Given the description of an element on the screen output the (x, y) to click on. 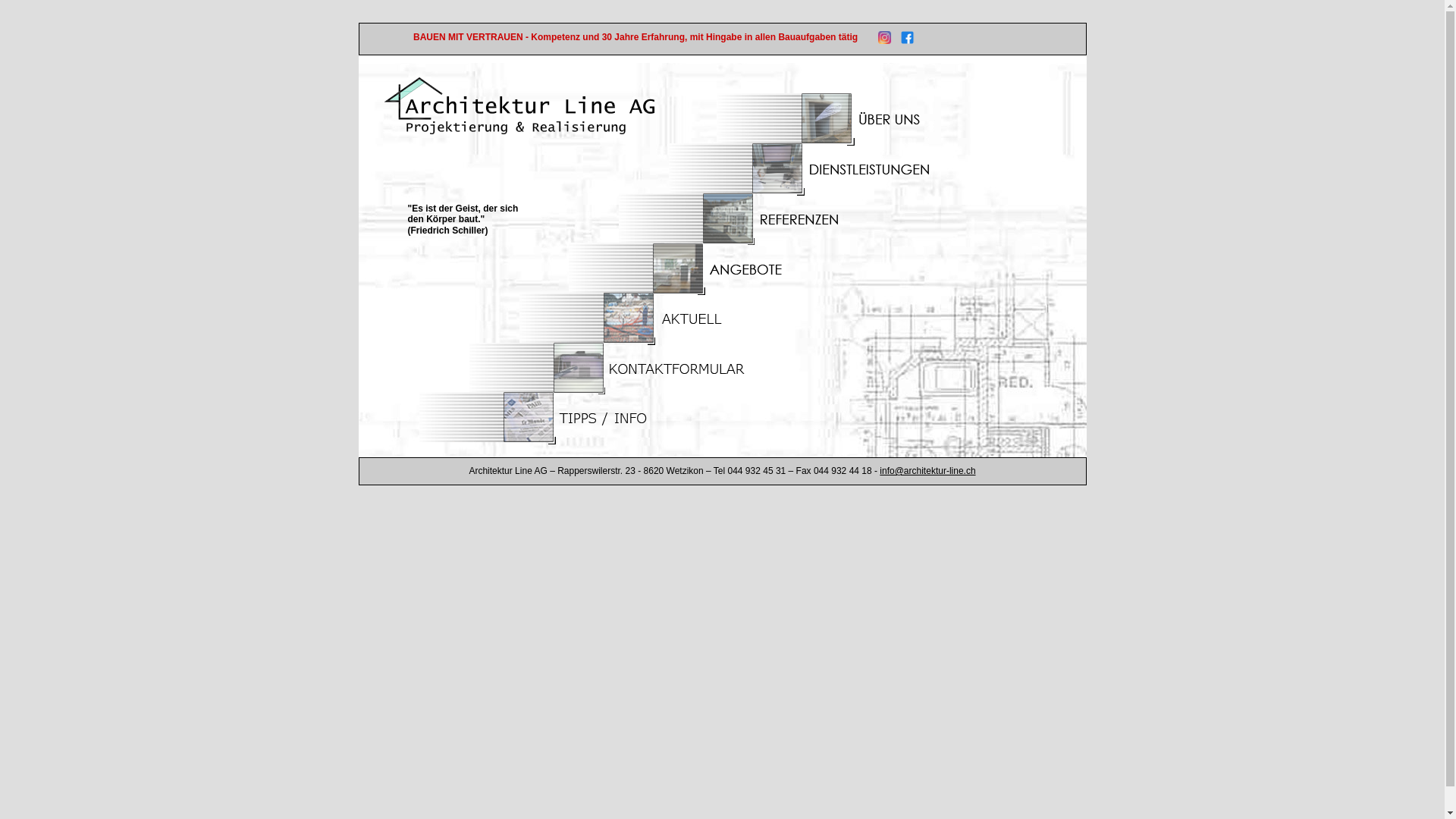
Architektur Line Element type: text (518, 105)
info@architektur-line.ch Element type: text (927, 470)
